Given the description of an element on the screen output the (x, y) to click on. 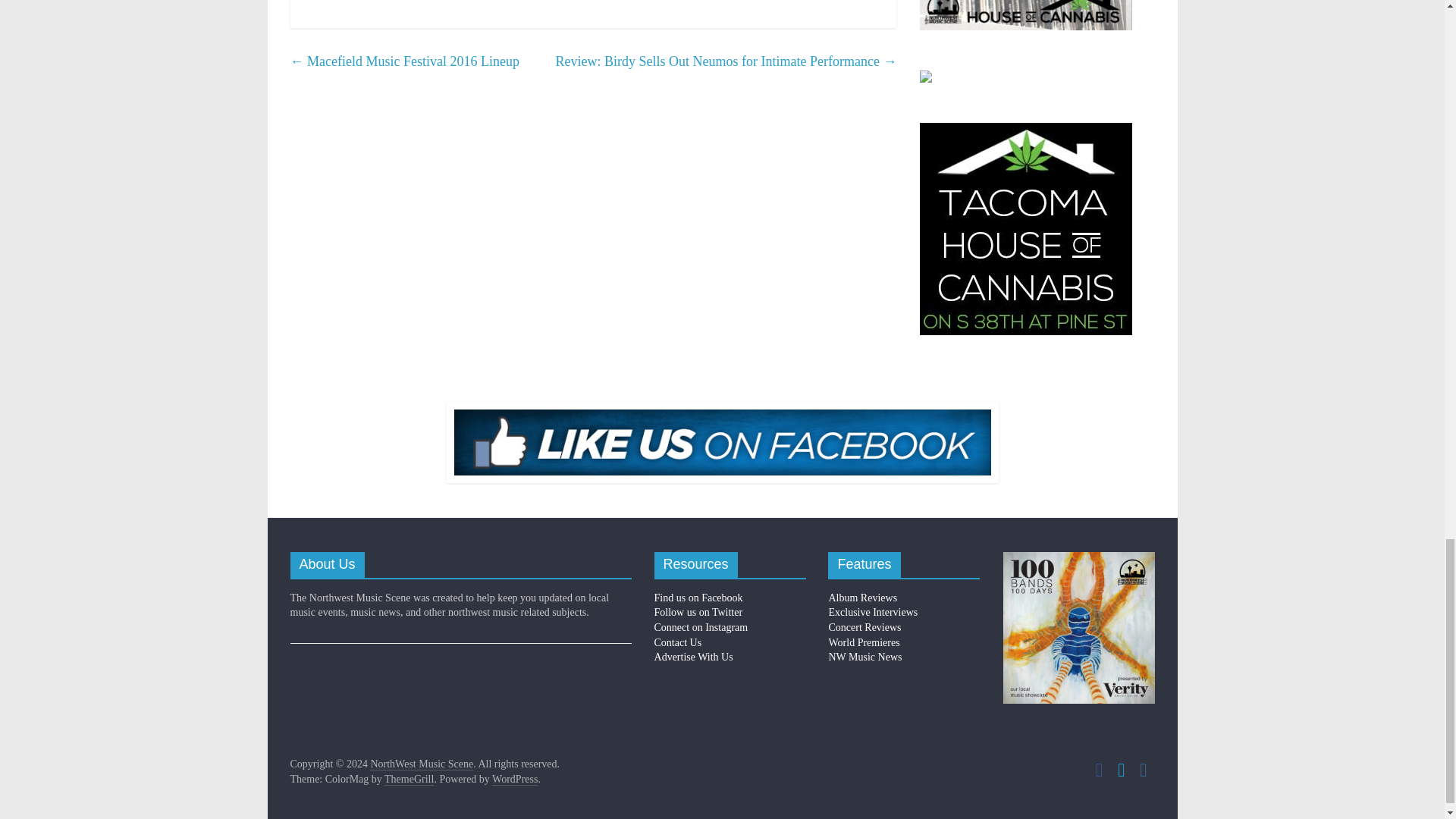
NorthWest Music Scene (421, 764)
ThemeGrill (408, 779)
WordPress (514, 779)
